Given the description of an element on the screen output the (x, y) to click on. 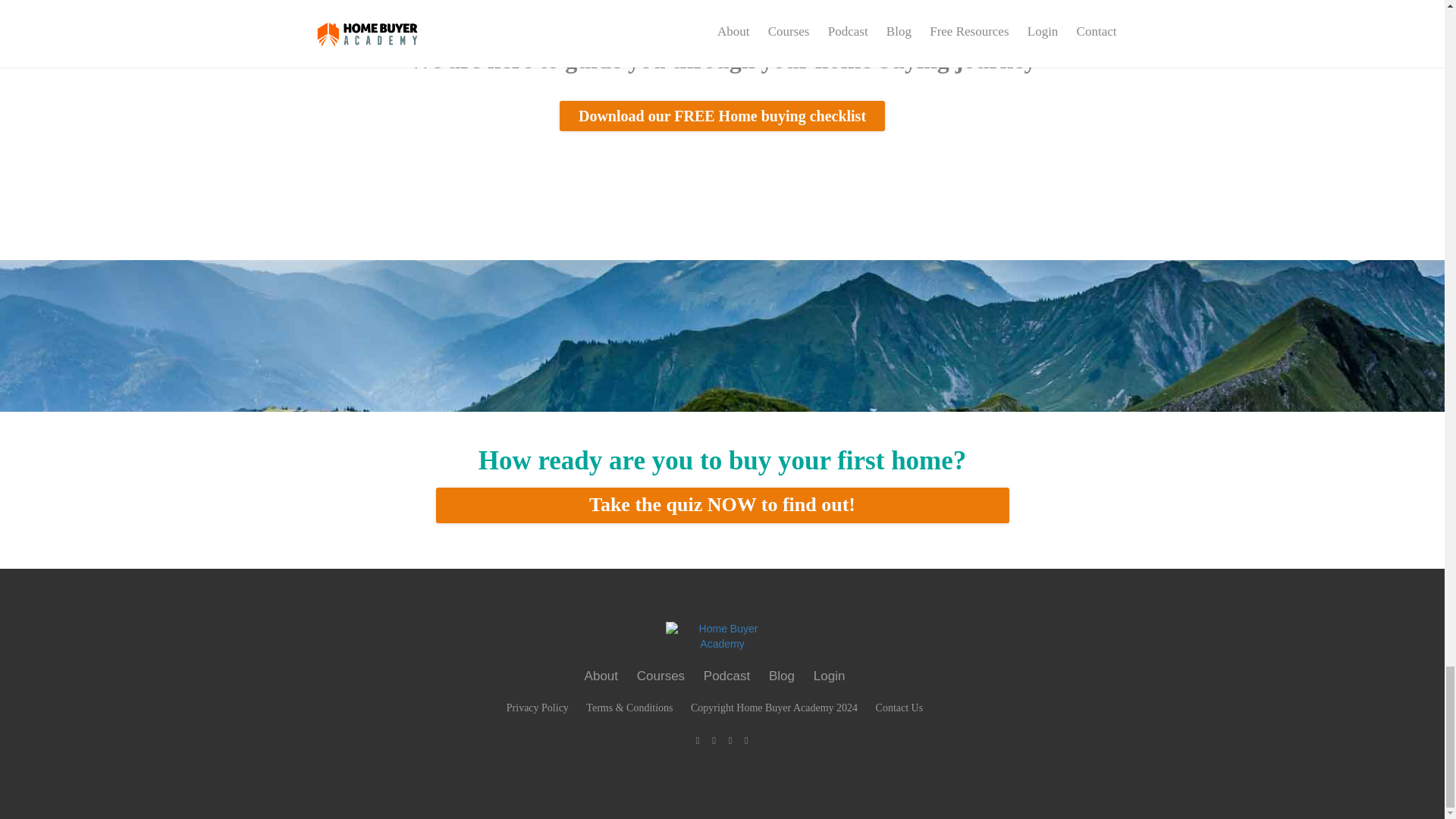
Privacy Policy (537, 708)
About (601, 676)
Contact Us (899, 708)
Take the quiz NOW to find out! (722, 505)
Download our FREE Home buying checklist (722, 115)
Podcast (726, 676)
Login (829, 676)
Courses (660, 676)
Blog (781, 676)
Copyright Home Buyer Academy 2024 (773, 708)
